Given the description of an element on the screen output the (x, y) to click on. 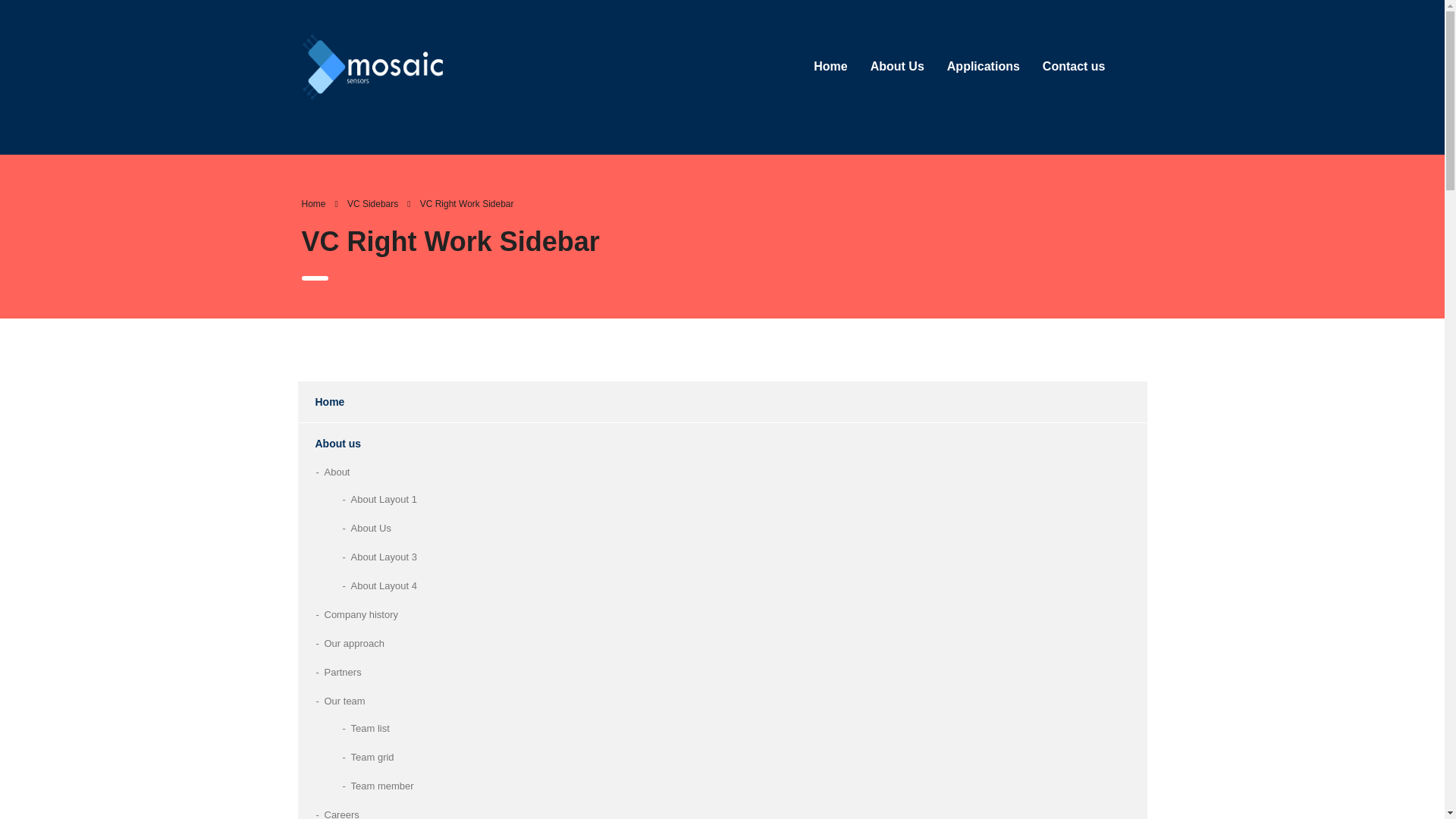
Partners (342, 672)
Careers (341, 812)
Home (320, 401)
Go to VC Sidebars. (372, 204)
About Us (897, 66)
Team grid (371, 757)
Team member (381, 786)
Team list (369, 728)
Applications (983, 66)
Contact us (1073, 66)
About (337, 472)
Go to Mosaic Sensors. (313, 204)
VC Sidebars (372, 204)
Home (313, 204)
Home (830, 66)
